Given the description of an element on the screen output the (x, y) to click on. 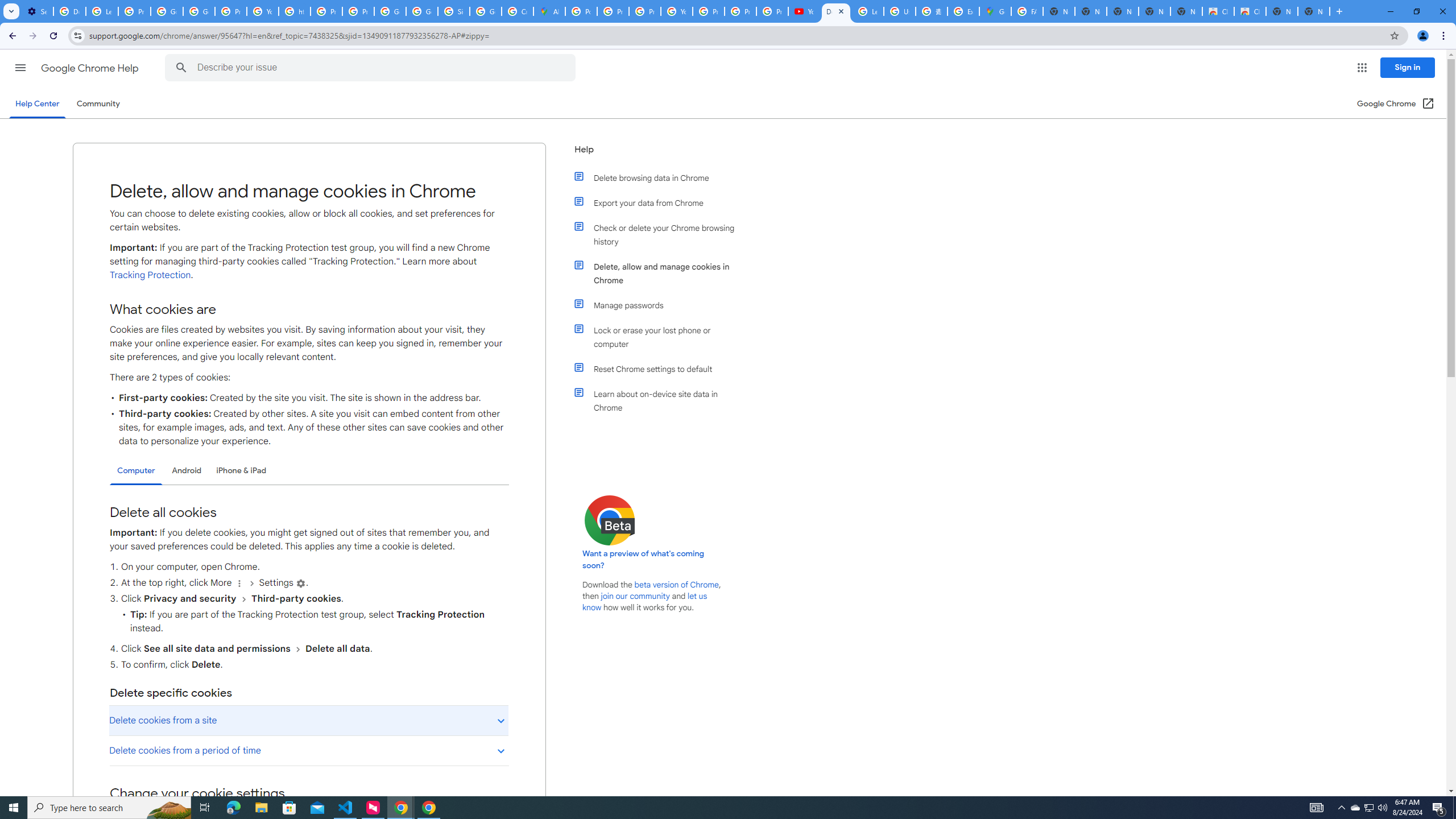
Settings (301, 583)
Delete cookies from a period of time (308, 750)
Learn about on-device site data in Chrome (661, 400)
Search Help Center (181, 67)
let us know (644, 601)
Delete photos & videos - Computer - Google Photos Help (69, 11)
Community (97, 103)
Privacy Help Center - Policies Help (613, 11)
Help Center (36, 103)
Classic Blue - Chrome Web Store (1249, 11)
Delete cookies from a site (308, 720)
